Given the description of an element on the screen output the (x, y) to click on. 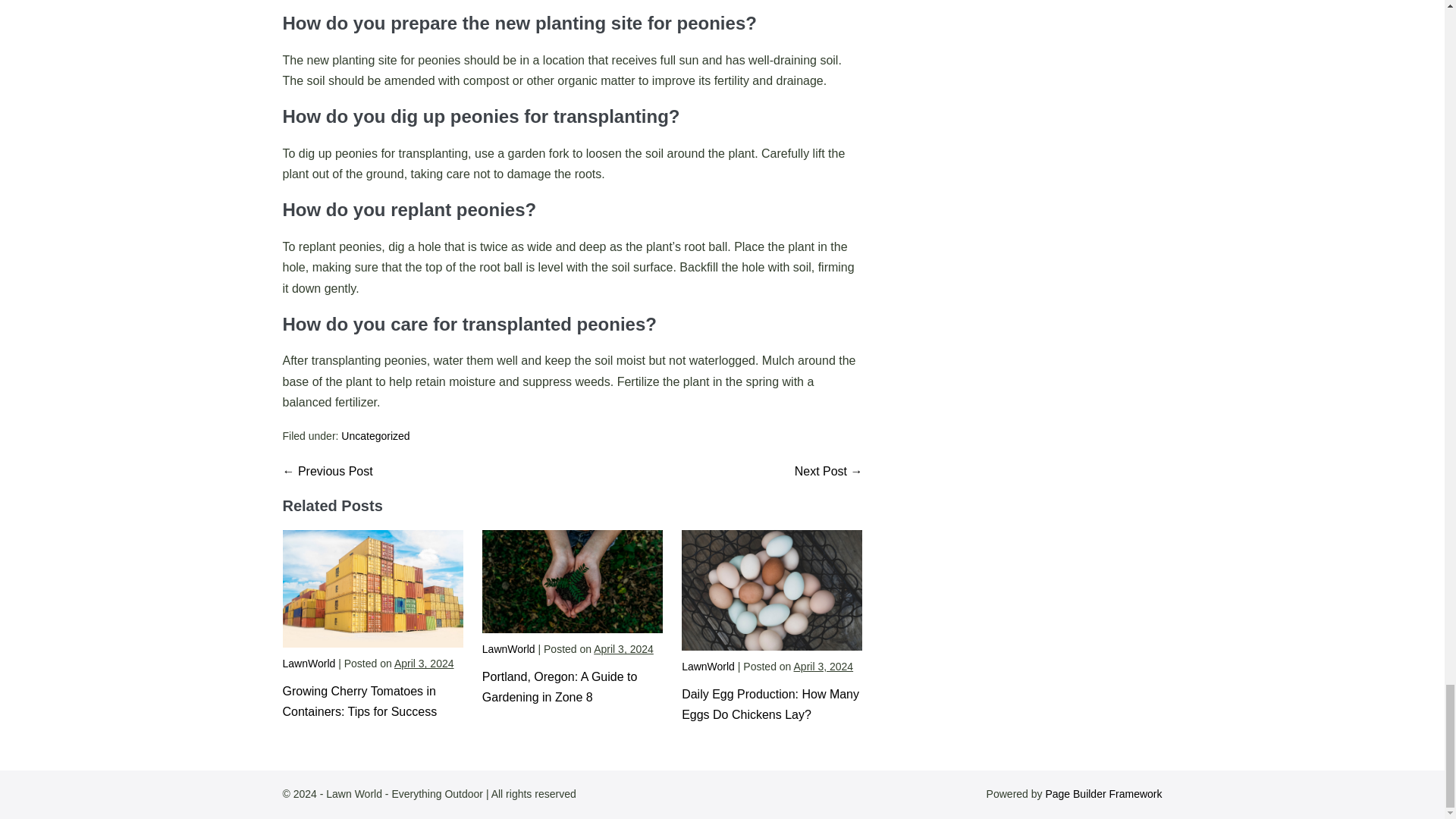
Daily Egg Production: How Many Eggs Do Chickens Lay? (770, 704)
View all posts by LawnWorld (308, 663)
LawnWorld (308, 663)
View all posts by LawnWorld (508, 648)
View all posts by LawnWorld (708, 666)
LawnWorld (708, 666)
Portland, Oregon: A Guide to Gardening in Zone 8 (559, 686)
Growing Cherry Tomatoes in Containers: Tips for Success (359, 701)
Uncategorized (374, 435)
LawnWorld (508, 648)
